Given the description of an element on the screen output the (x, y) to click on. 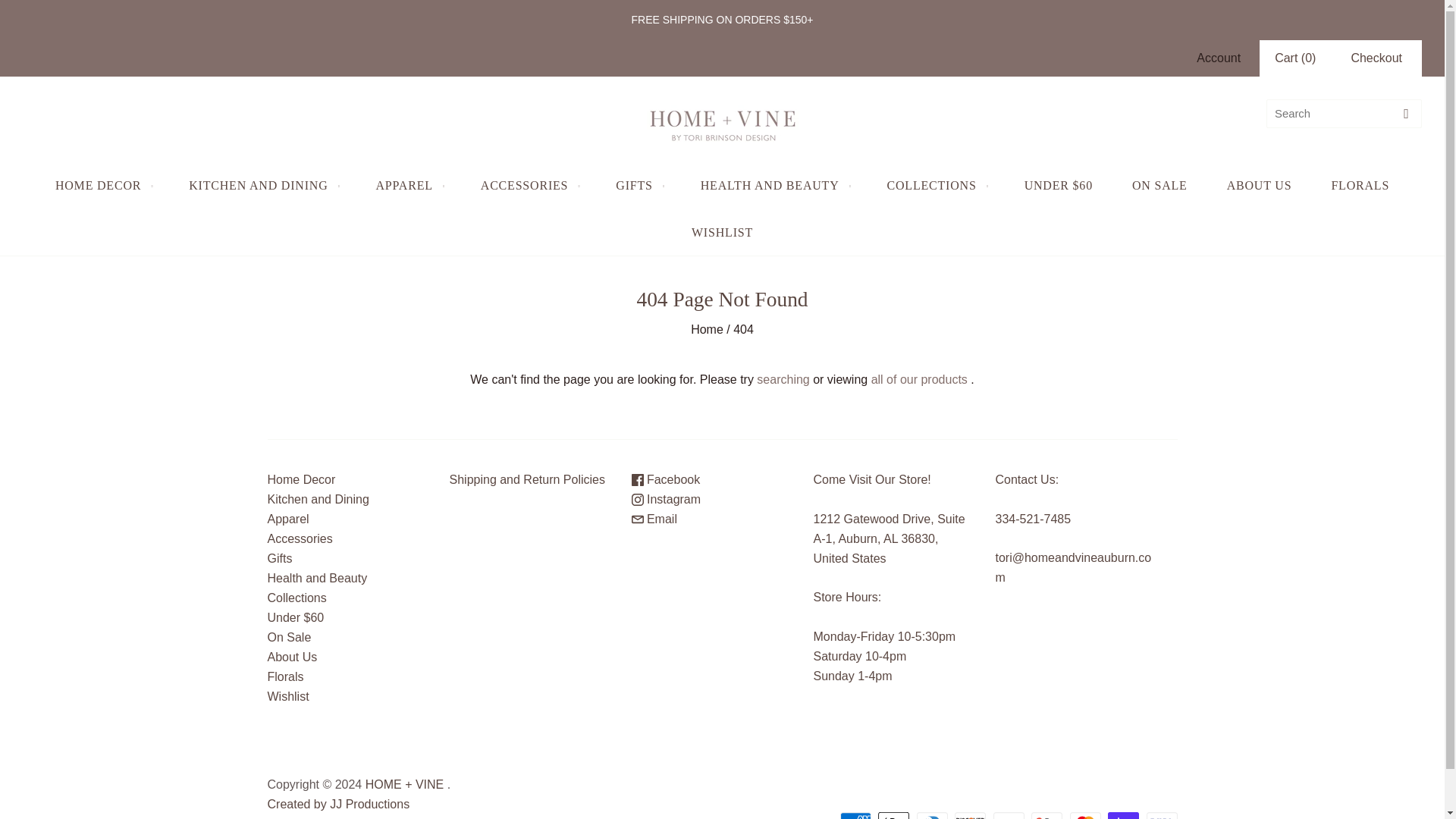
Visa (1162, 815)
Checkout (1375, 57)
Account (1218, 57)
Instagram (665, 499)
APPAREL (408, 185)
Shop Pay (1123, 815)
American Express (855, 815)
Facebook (665, 479)
KITCHEN AND DINING (261, 185)
Discover (970, 815)
Google Pay (1046, 815)
Apple Pay (892, 815)
ACCESSORIES (528, 185)
Email (653, 518)
Meta Pay (1008, 815)
